Given the description of an element on the screen output the (x, y) to click on. 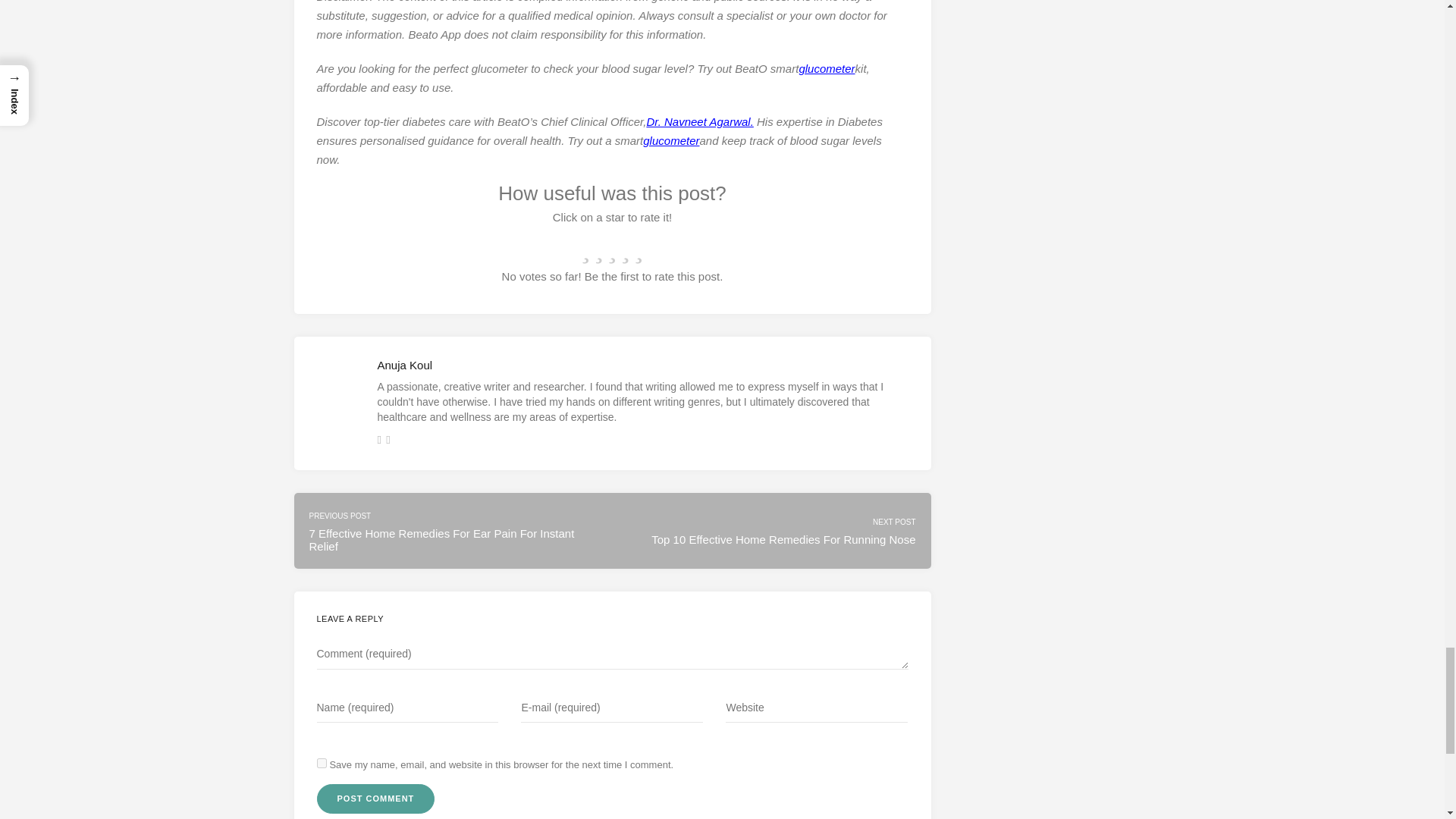
Post Comment (376, 798)
yes (321, 763)
